Given the description of an element on the screen output the (x, y) to click on. 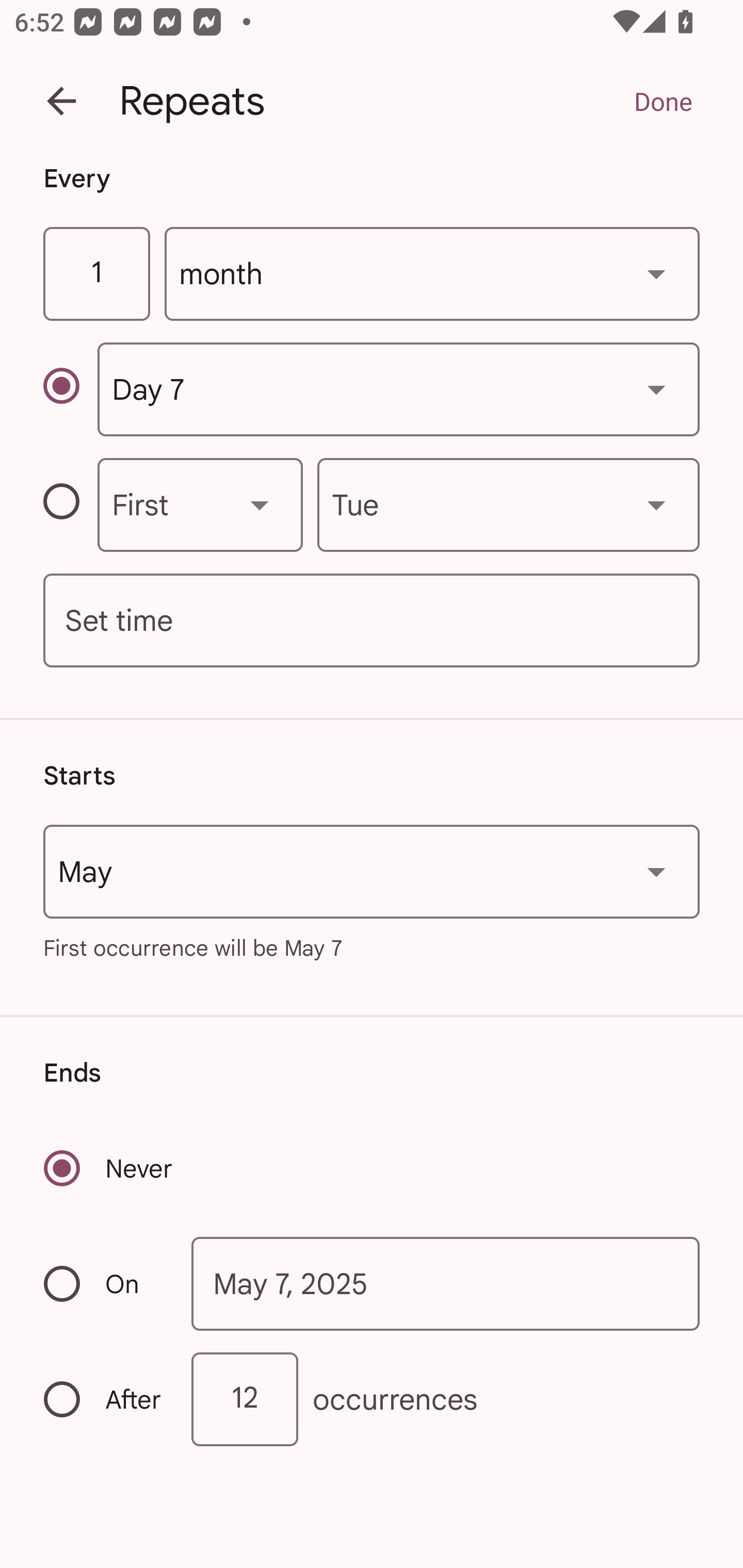
Back (61, 101)
Done (663, 101)
1 (96, 274)
month (431, 274)
Show dropdown menu (655, 273)
Day 7 (398, 388)
Show dropdown menu (655, 389)
Repeat monthly on a specific day of the month (70, 389)
First (200, 504)
Tue (508, 504)
Show dropdown menu (259, 504)
Show dropdown menu (655, 504)
Repeat monthly on a specific weekday (70, 504)
Set time (371, 620)
May (371, 871)
Show dropdown menu (655, 871)
Never Recurrence never ends (109, 1168)
May 7, 2025 (445, 1284)
On Recurrence ends on a specific date (104, 1283)
12 (244, 1398)
